Given the description of an element on the screen output the (x, y) to click on. 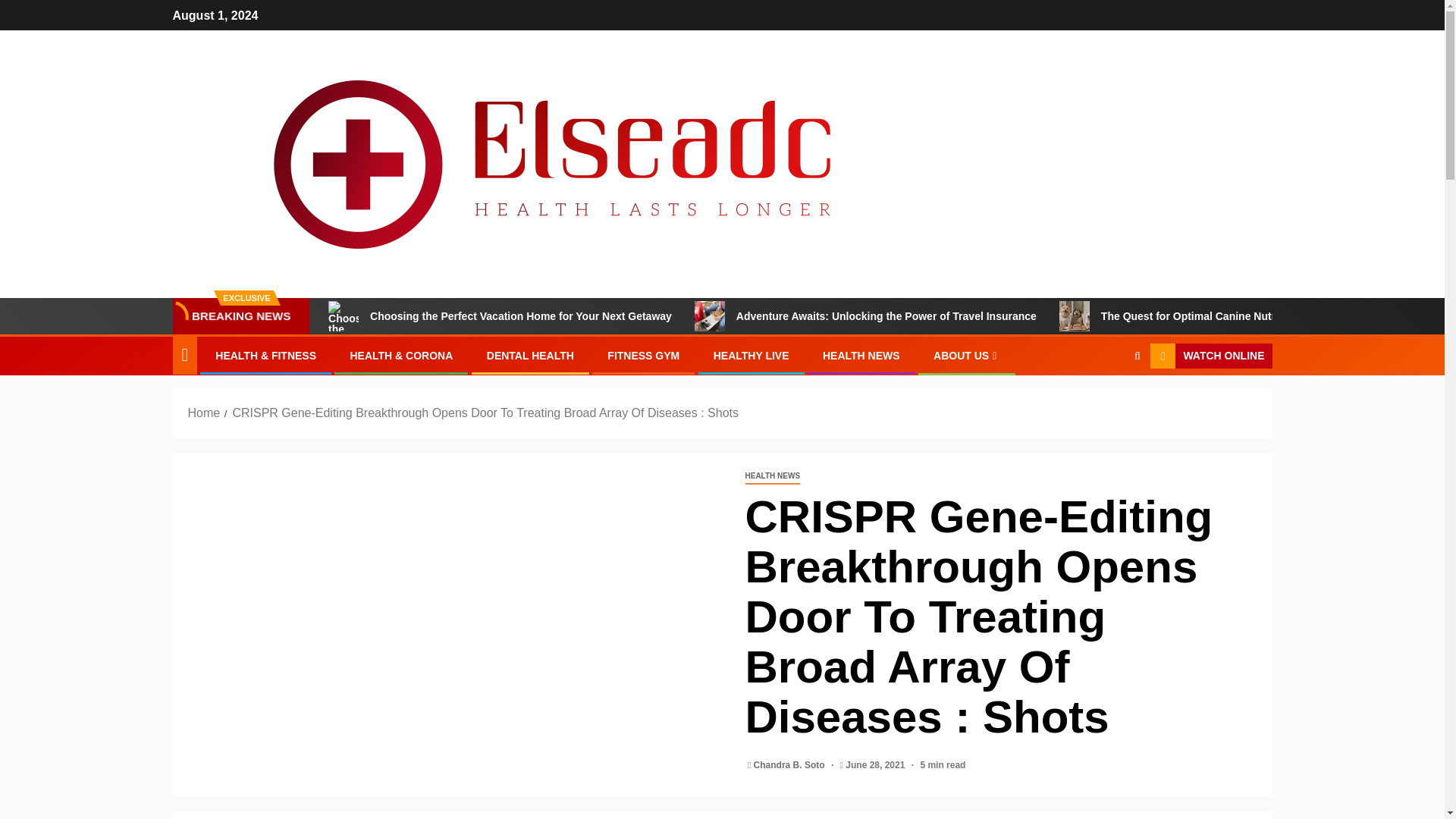
HEALTHY LIVE (751, 355)
Adventure Awaits: Unlocking the Power of Travel Insurance (865, 316)
WATCH ONLINE (1210, 356)
Home (204, 412)
ABOUT US (966, 355)
HEALTH NEWS (860, 355)
Choosing the Perfect Vacation Home for Your Next Getaway (499, 316)
FITNESS GYM (643, 355)
Chandra B. Soto (790, 765)
Adventure Awaits: Unlocking the Power of Travel Insurance (709, 316)
DENTAL HEALTH (529, 355)
Search (1107, 402)
HEALTH NEWS (771, 476)
